Given the description of an element on the screen output the (x, y) to click on. 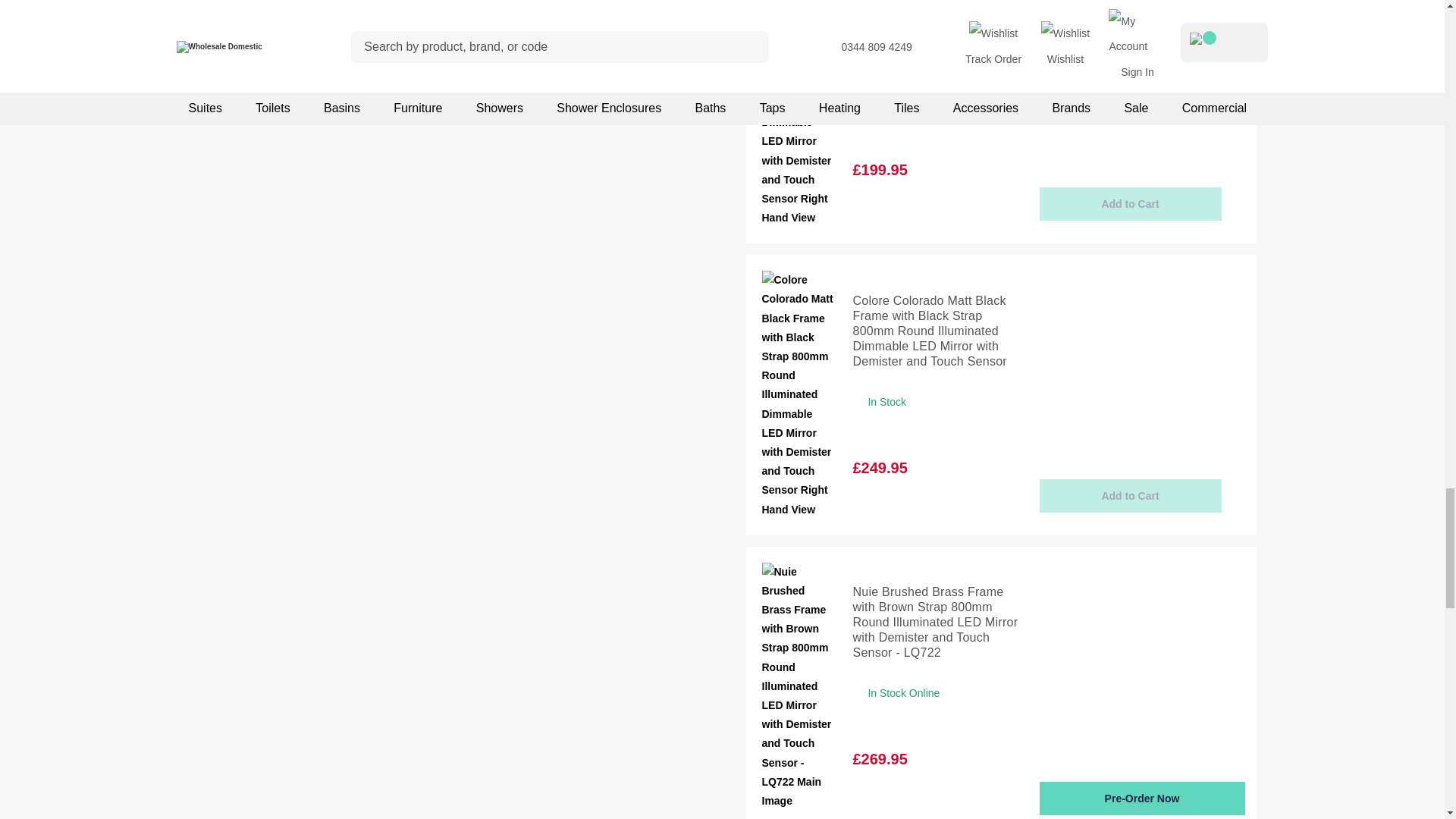
Add to Cart (1130, 495)
Add to Cart (1130, 203)
